Given the description of an element on the screen output the (x, y) to click on. 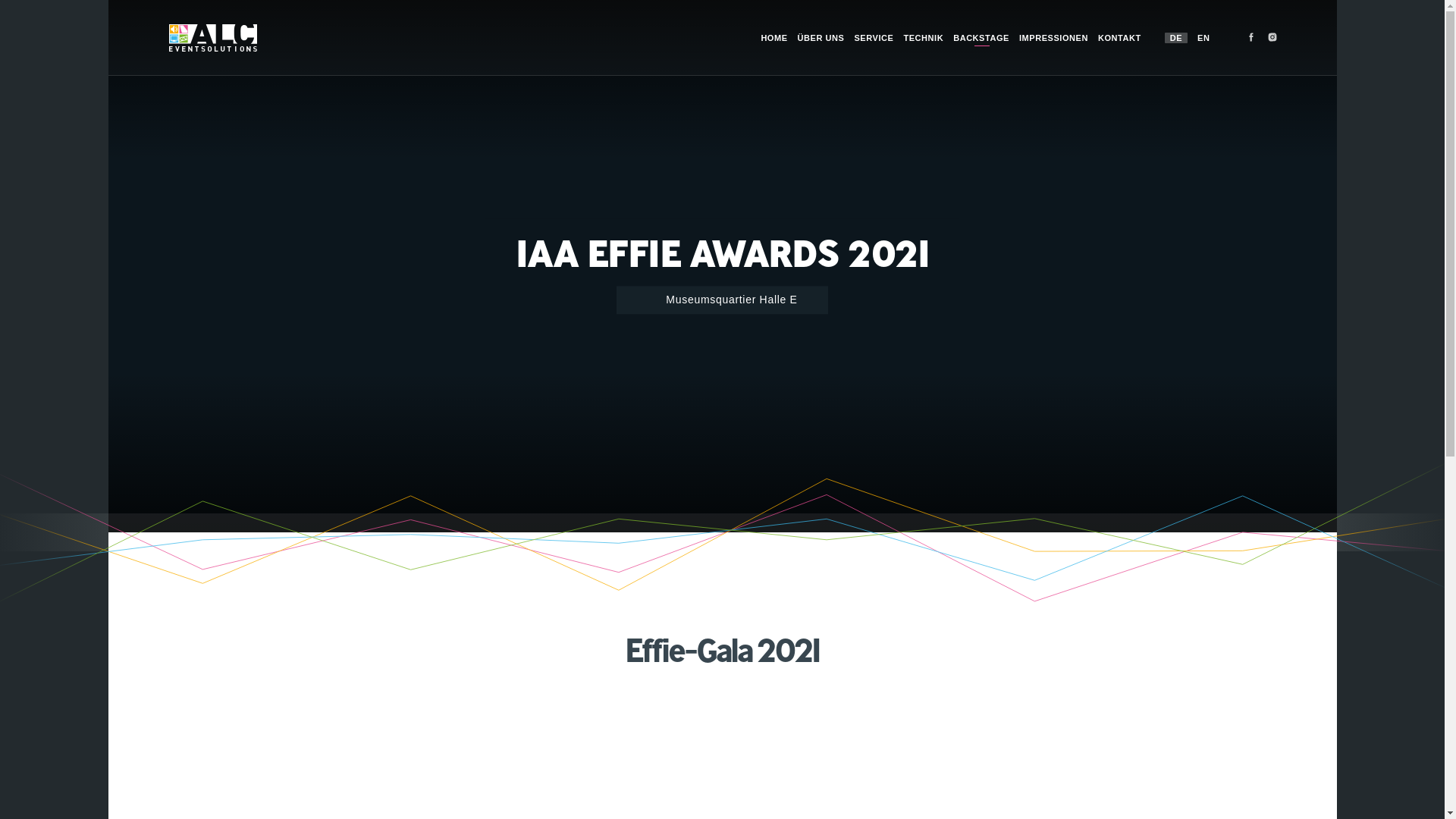
Facebook Element type: hover (1250, 36)
EN Element type: text (1203, 36)
TECHNIK Element type: text (920, 47)
KONTAKT Element type: text (1116, 47)
DE Element type: text (1175, 36)
Instagram Element type: hover (1271, 36)
HOME Element type: text (771, 47)
IMPRESSIONEN Element type: text (1050, 47)
SERVICE Element type: text (870, 47)
BACKSTAGE Element type: text (978, 47)
